Given the description of an element on the screen output the (x, y) to click on. 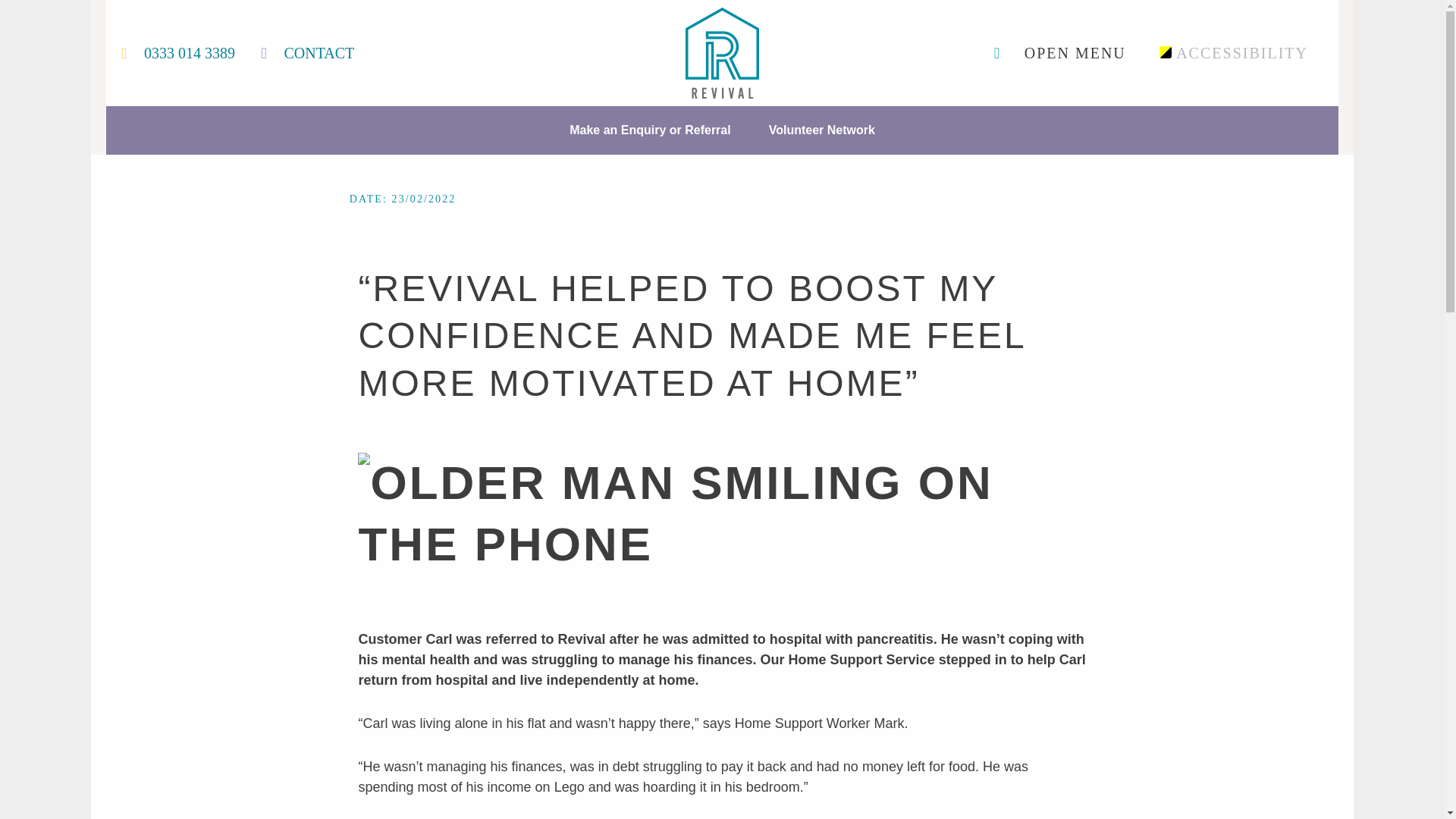
0333 014 3389 (188, 52)
Contact (318, 52)
CONTACT (318, 52)
